Given the description of an element on the screen output the (x, y) to click on. 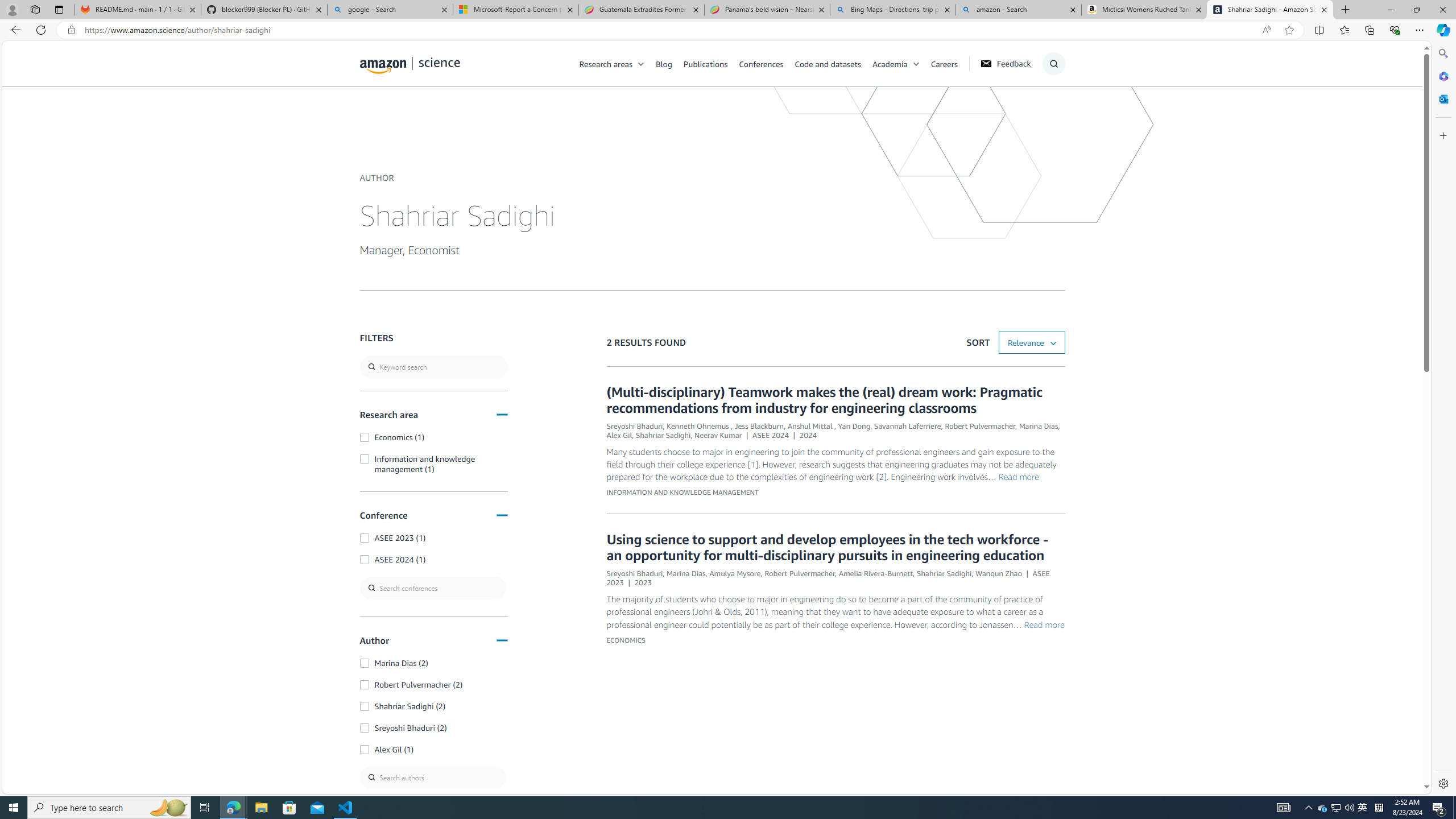
Side bar (1443, 418)
INFORMATION AND KNOWLEDGE MANAGEMENT (681, 492)
Publications (705, 63)
Research areas (606, 63)
amazon-science-logo.svg (409, 65)
